Given the description of an element on the screen output the (x, y) to click on. 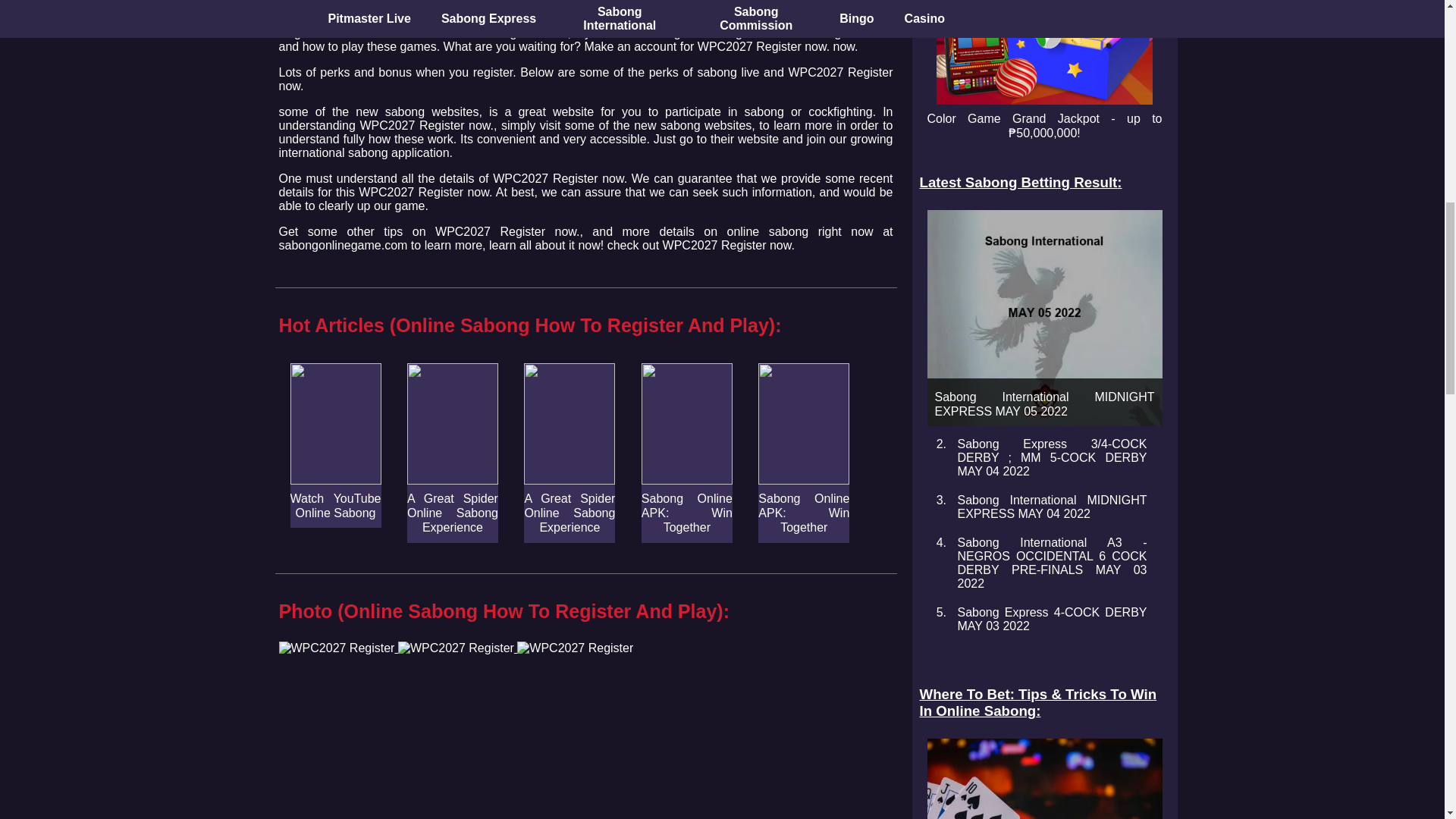
Sabong International MIDNIGHT EXPRESS MAY 04 2022 (1051, 506)
Sabong International MIDNIGHT EXPRESS MAY 05 2022 (1043, 317)
Sabong Express 4-COCK DERBY MAY 03 2022 (1051, 619)
Latest Sabong Betting Result (1043, 182)
Legitimate List of Casino Online Real Money (1043, 778)
Legitimate List of Casino Online Real Money (1043, 778)
Sabong International MIDNIGHT EXPRESS MAY 05 2022 (1043, 317)
